Given the description of an element on the screen output the (x, y) to click on. 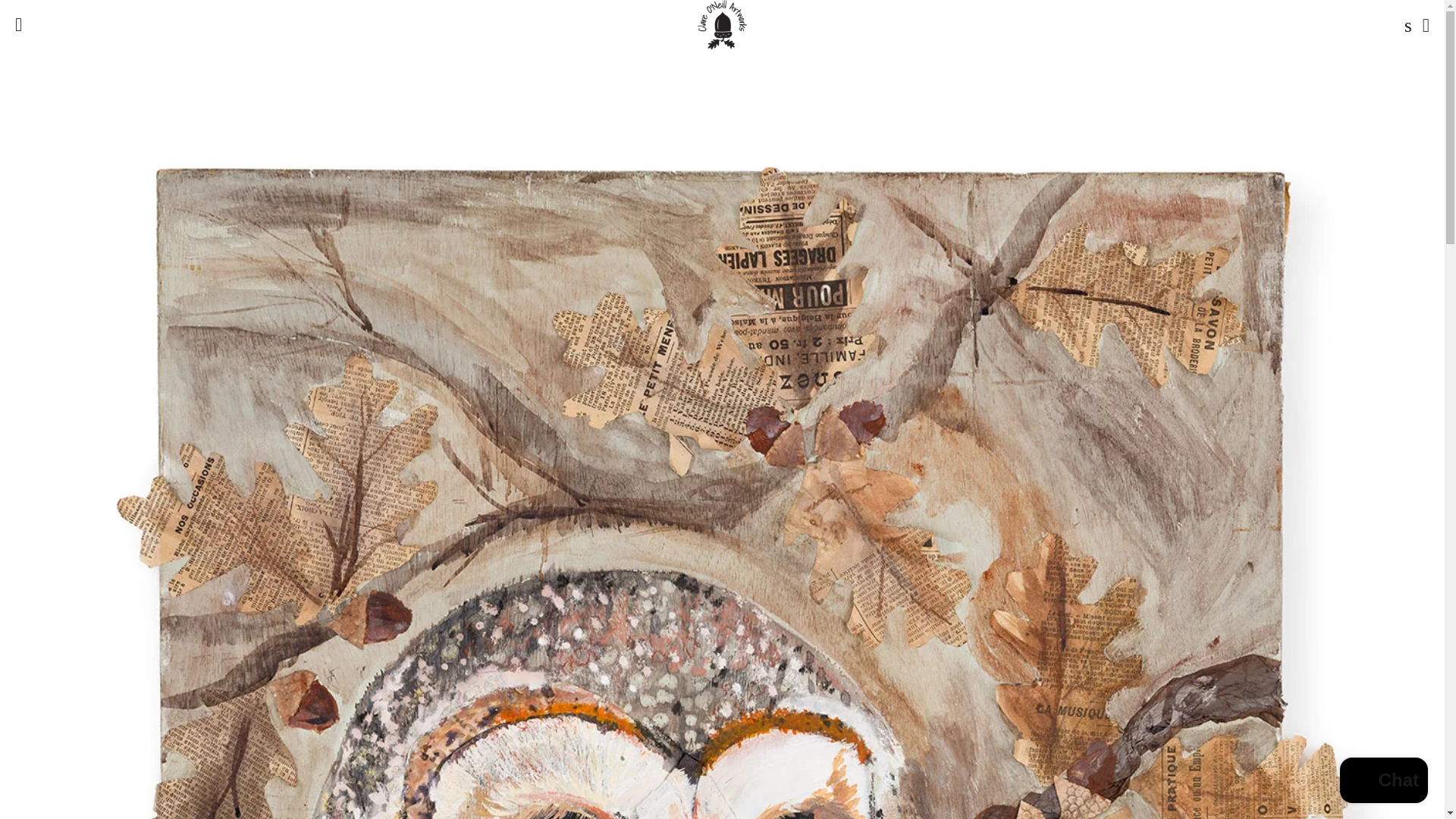
Shopify online store chat (1383, 781)
